Given the description of an element on the screen output the (x, y) to click on. 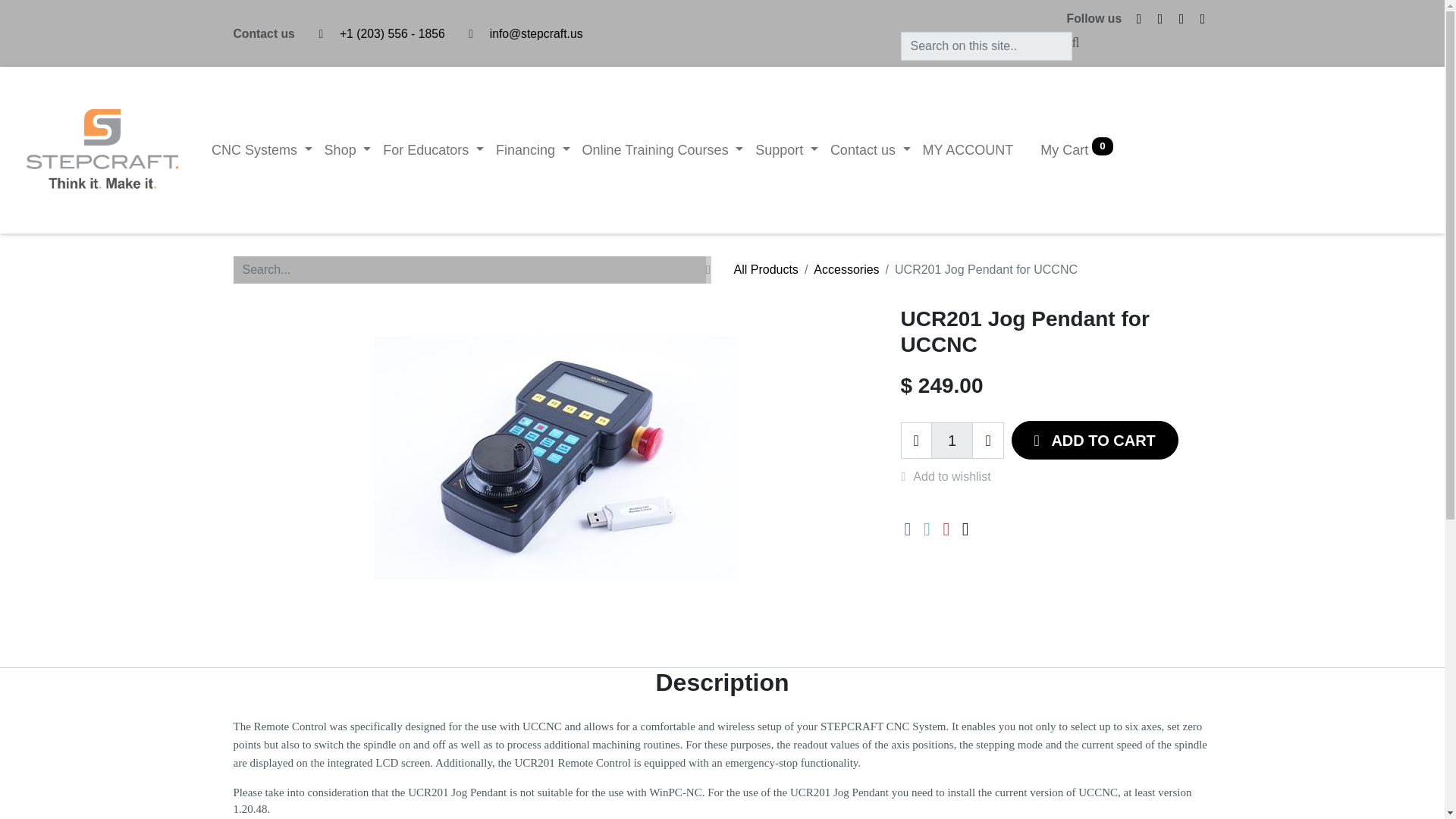
Stepcraft, Inc. (101, 150)
Financing (532, 150)
Online Training Courses (662, 150)
Add to wishlist (954, 476)
1 (952, 440)
For Educators (433, 150)
Shop (347, 150)
CNC Systems (261, 150)
Support (786, 150)
